Given the description of an element on the screen output the (x, y) to click on. 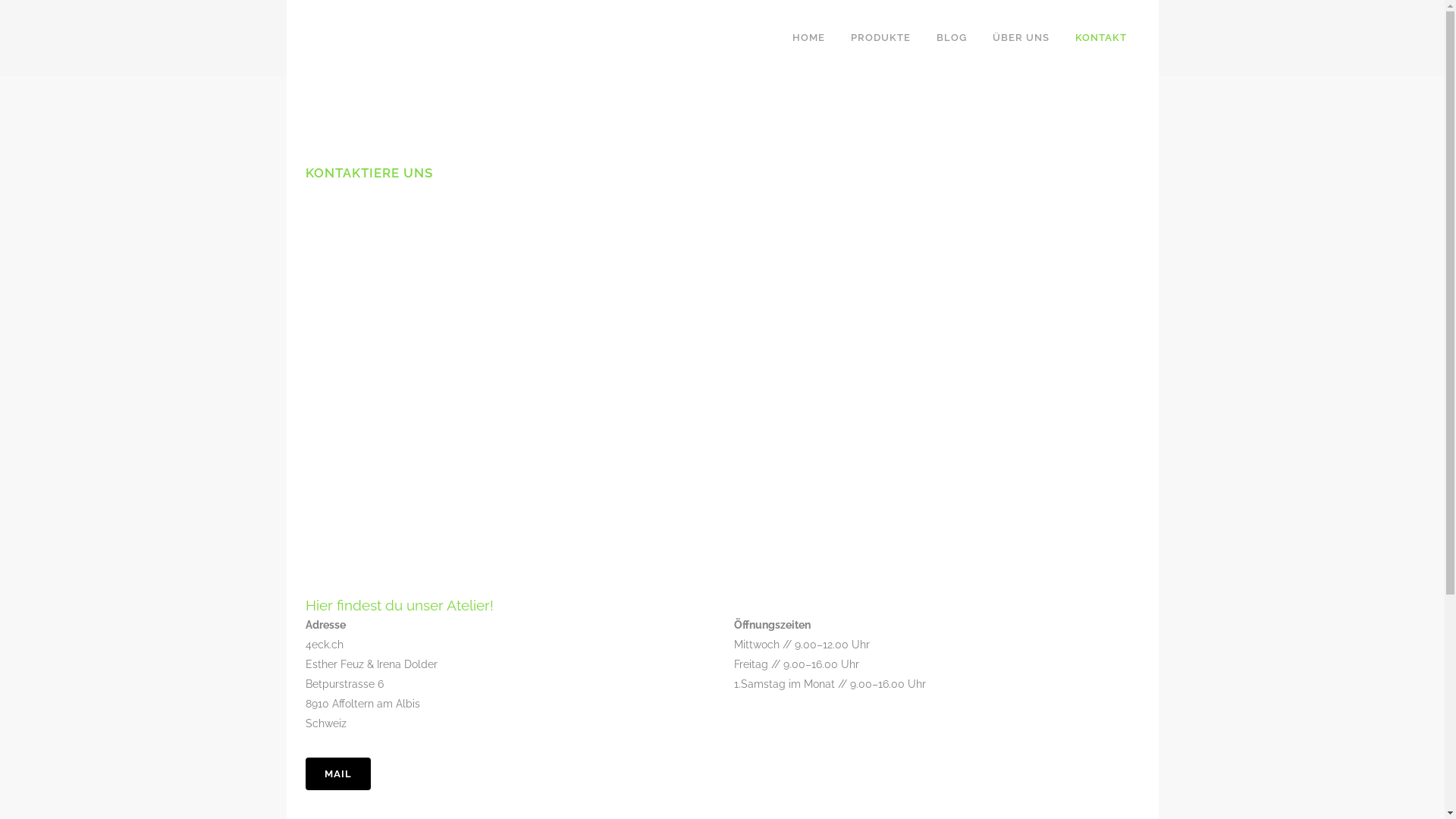
BLOG Element type: text (951, 37)
PRODUKTE Element type: text (879, 37)
MAIL Element type: text (337, 773)
HOME Element type: text (808, 37)
KONTAKT Element type: text (1100, 37)
